Given the description of an element on the screen output the (x, y) to click on. 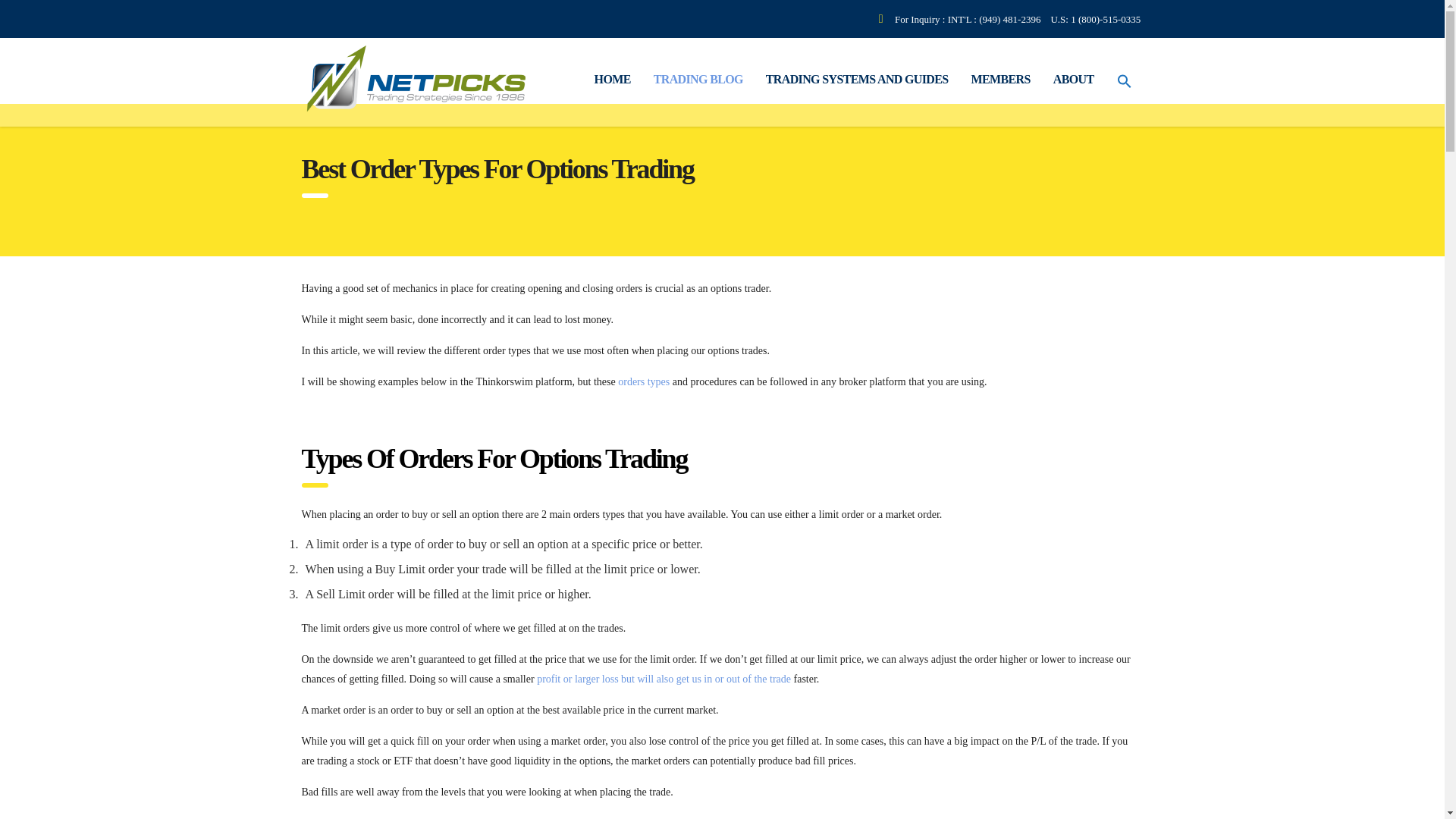
Home (612, 79)
HOME (612, 79)
TRADING SYSTEMS AND GUIDES (856, 79)
TRADING BLOG (698, 79)
ABOUT (1073, 79)
MEMBERS (1000, 79)
